Given the description of an element on the screen output the (x, y) to click on. 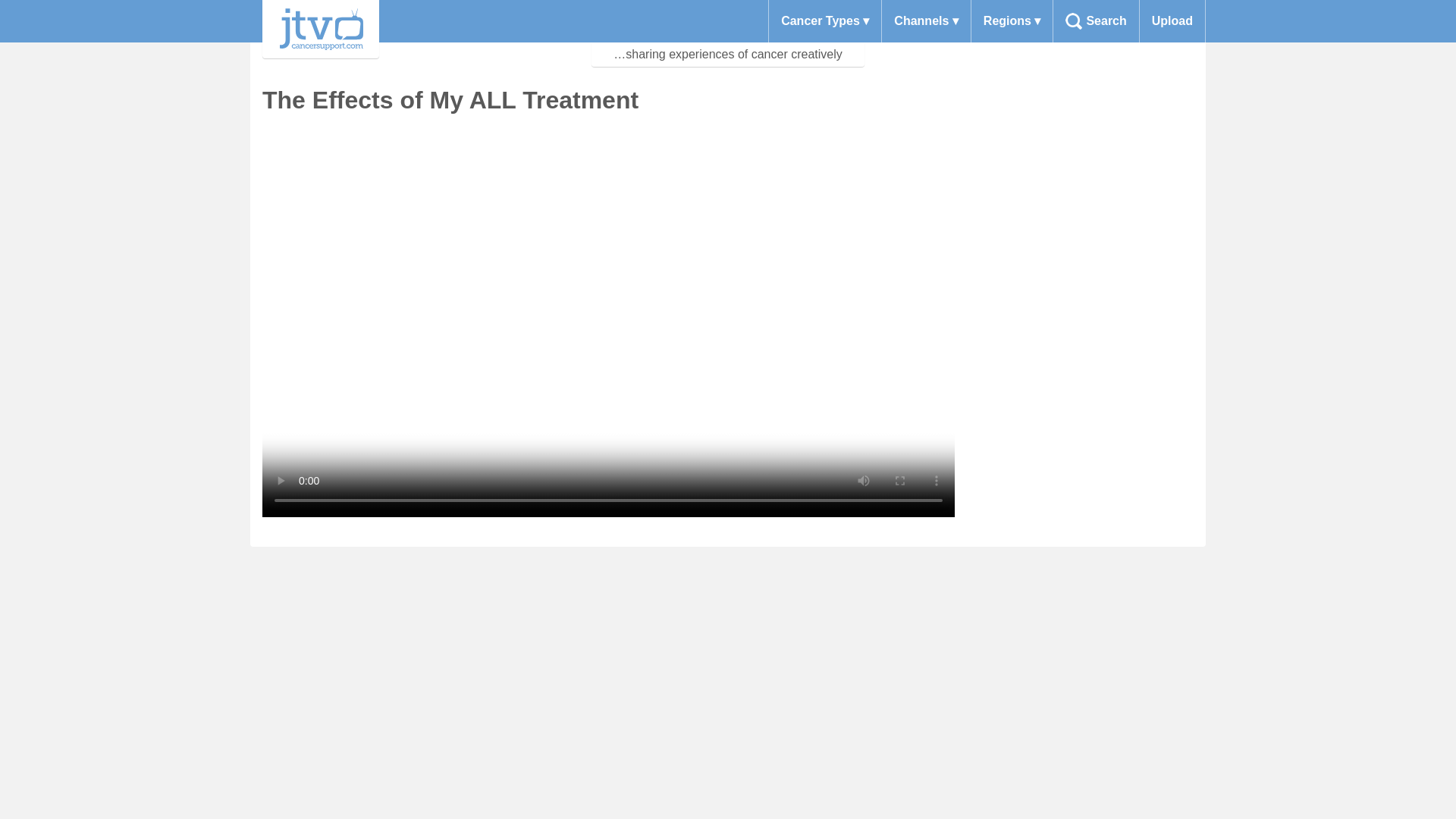
Cancer Types (824, 21)
Channels (925, 21)
JTV (320, 28)
